Given the description of an element on the screen output the (x, y) to click on. 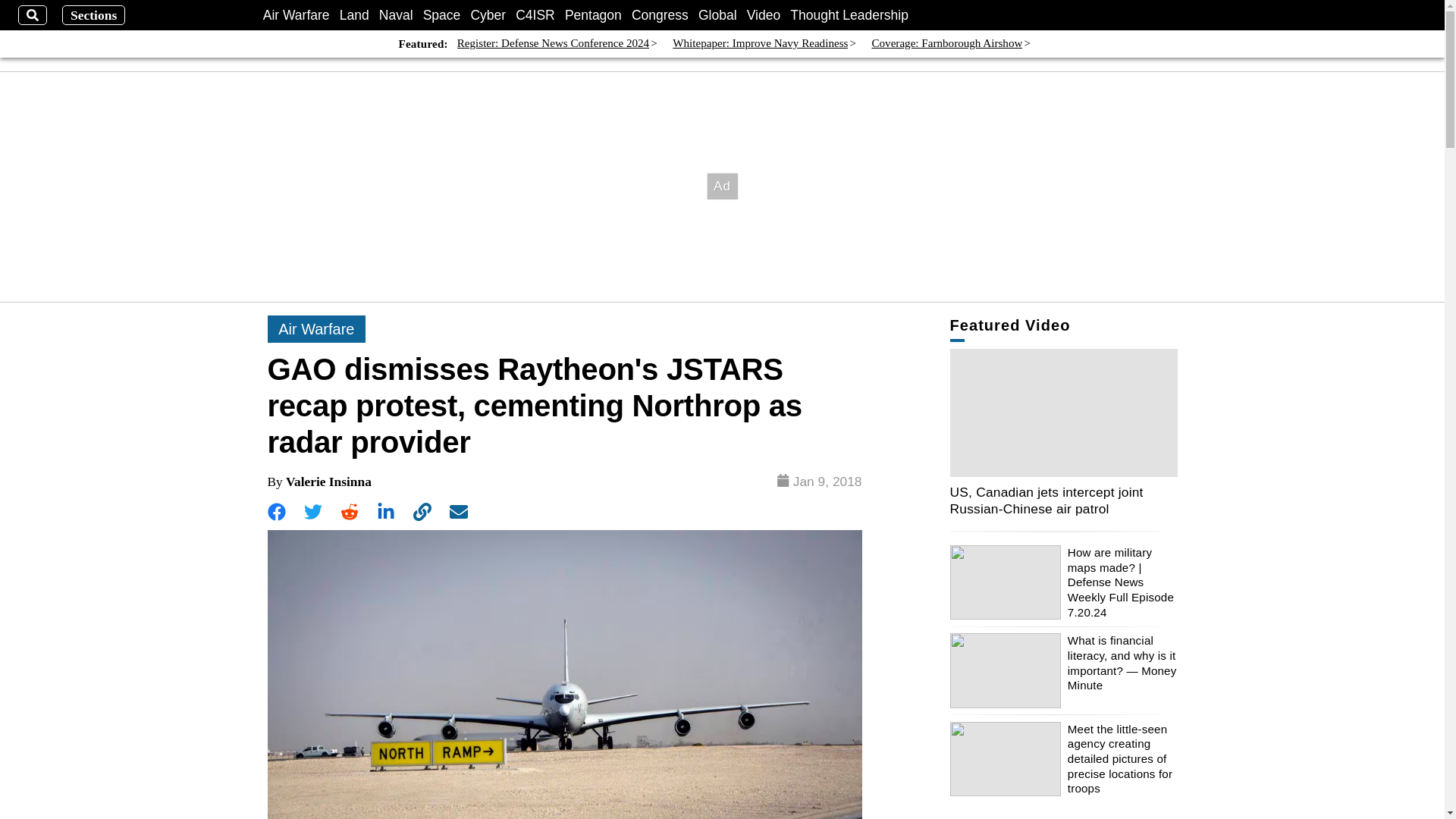
Congress (659, 14)
Space (442, 14)
Global (717, 14)
Sections (93, 14)
Land (354, 14)
Air Warfare (296, 14)
Video (763, 14)
Pentagon (592, 14)
Thought Leadership (849, 14)
Naval (395, 14)
